Given the description of an element on the screen output the (x, y) to click on. 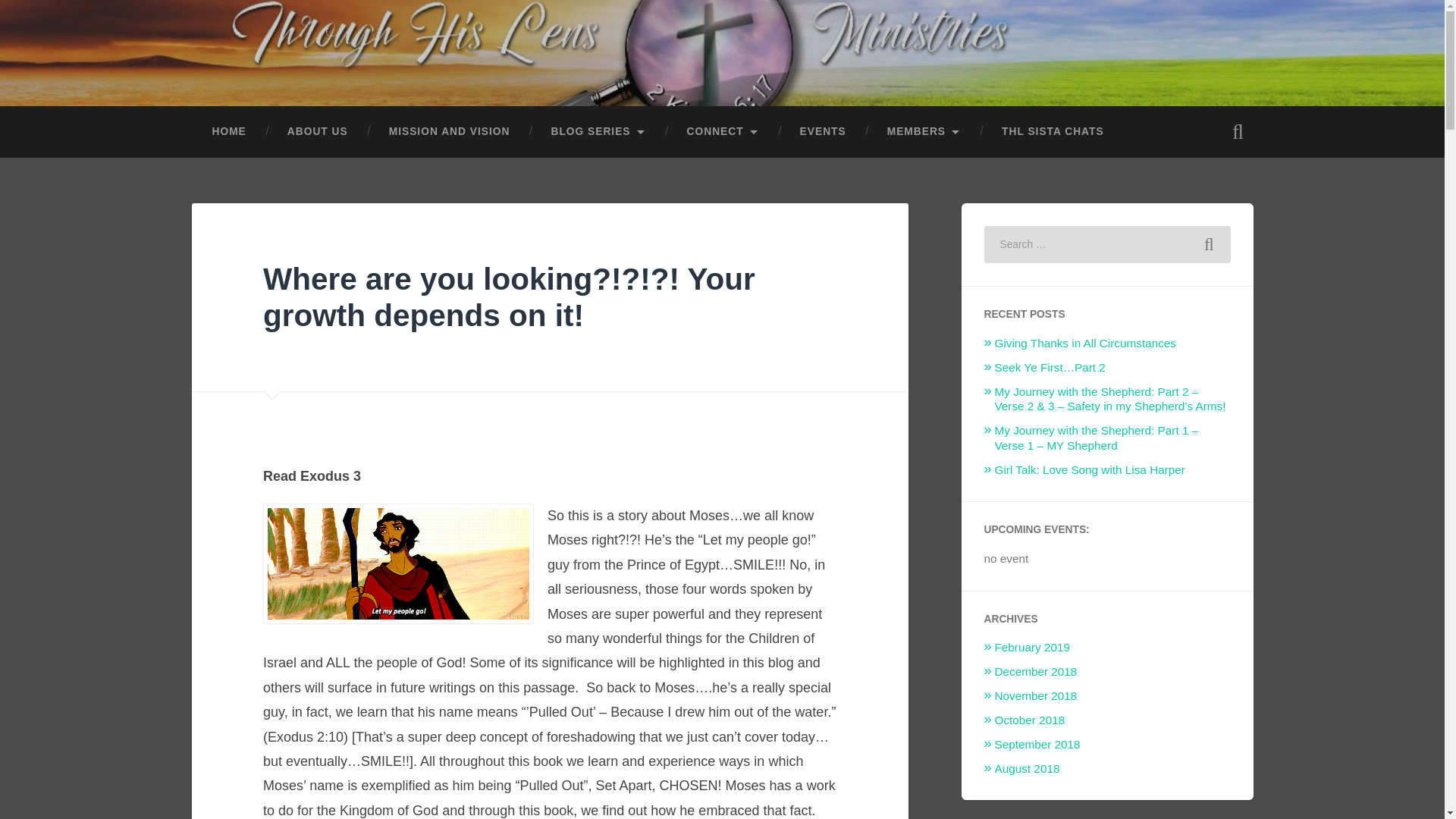
Through His Lens Ministries (381, 67)
CONNECT (722, 132)
Search (1209, 243)
HOME (228, 132)
EVENTS (822, 132)
BLOG SERIES (597, 132)
Where are you looking?!?!?! Your growth depends on it! (509, 297)
Search (1209, 243)
MEMBERS (923, 132)
THL SISTA CHATS (1052, 132)
